Given the description of an element on the screen output the (x, y) to click on. 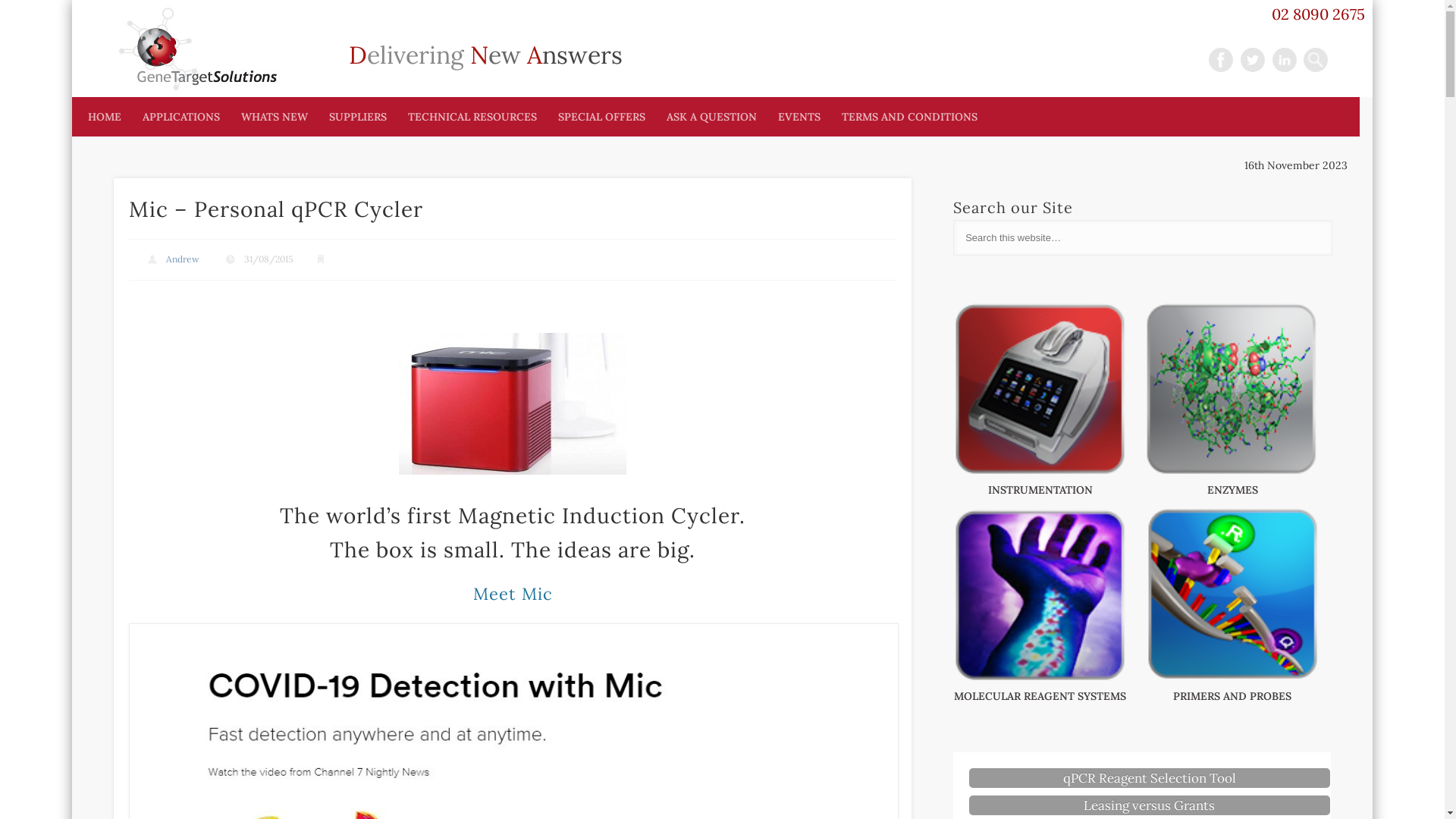
Facebook Element type: text (1220, 59)
TERMS AND CONDITIONS Element type: text (909, 116)
Meet Mic Element type: text (512, 593)
Primers and Probes Element type: hover (1232, 678)
qPCR Reagent Selection Tool Element type: text (1149, 777)
HOME Element type: text (104, 116)
Enzymes Element type: hover (1232, 472)
SUPPLIERS Element type: text (357, 116)
TECHNICAL RESOURCES Element type: text (472, 116)
WHATS NEW Element type: text (274, 116)
LinkedIn Element type: text (1284, 59)
EVENTS Element type: text (799, 116)
ASK A QUESTION Element type: text (711, 116)
Molecular Reagent Systems Element type: hover (1039, 678)
Search Element type: text (11, 9)
Twitter Element type: text (1252, 59)
Instrumentation Element type: hover (1039, 472)
Andrew Element type: text (182, 258)
SPECIAL OFFERS Element type: text (601, 116)
Gene Target Solutions Element type: text (414, 40)
APPLICATIONS Element type: text (181, 116)
Leasing versus Grants Element type: text (1149, 805)
